Given the description of an element on the screen output the (x, y) to click on. 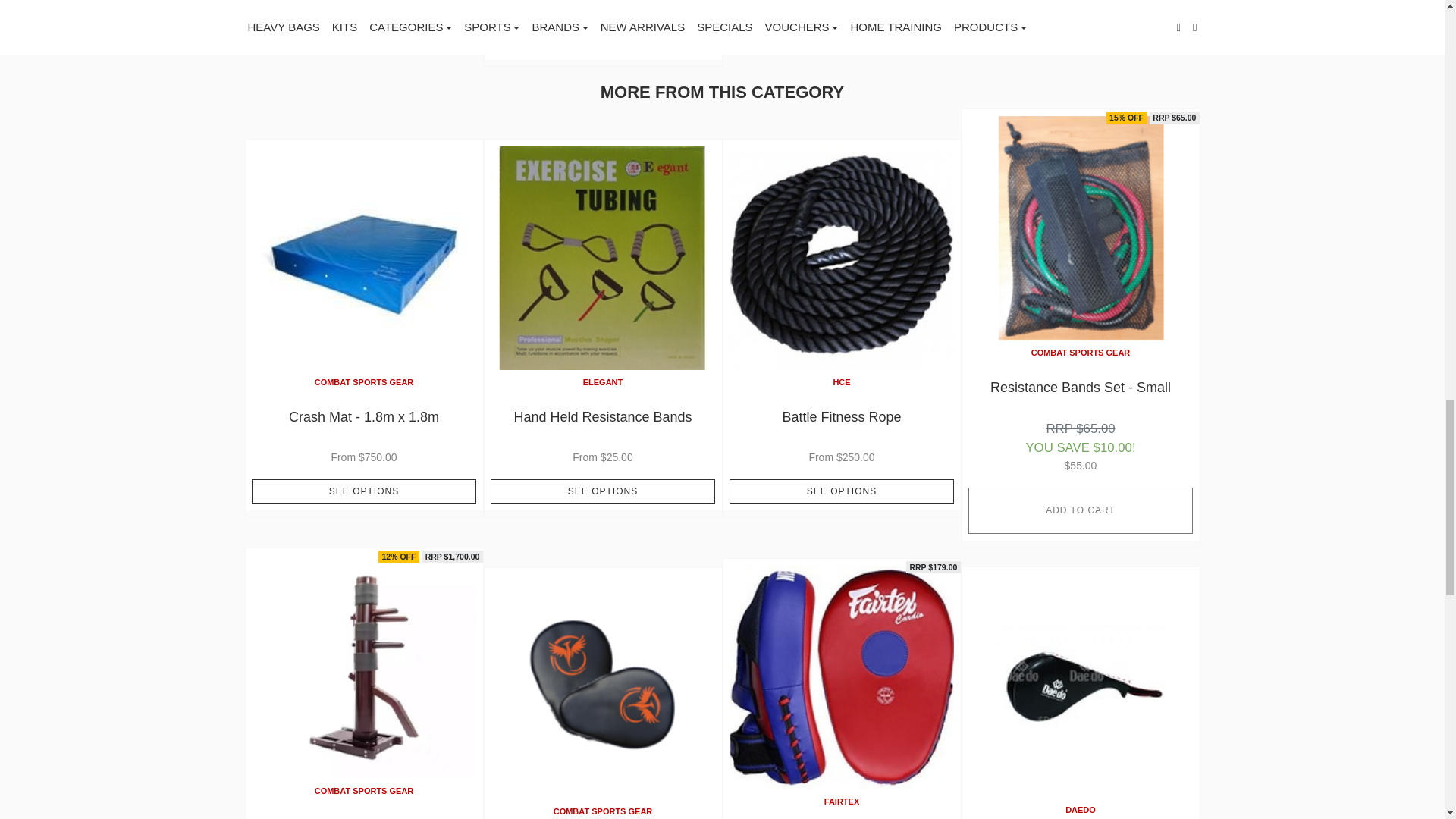
View Crash Mat - 1.8m x 1.8m Buying Options (363, 491)
HCE (841, 381)
View HCE Battle Fitness Rope Buying Options (841, 491)
Combat Sports Gear (602, 810)
Combat Sports Gear (1080, 352)
Combat Sports Gear (363, 790)
Combat Sports Gear (363, 381)
Add Resistance Bands Set - Small to Cart (1080, 510)
View CSG - Marker Cones Buying Options (363, 20)
View RDX - T17 Aura Abdominal Groin Guard Buying Options (602, 40)
View ELEGANT - Hand Held Resistance Bands Buying Options (602, 491)
Elegant (603, 381)
